Given the description of an element on the screen output the (x, y) to click on. 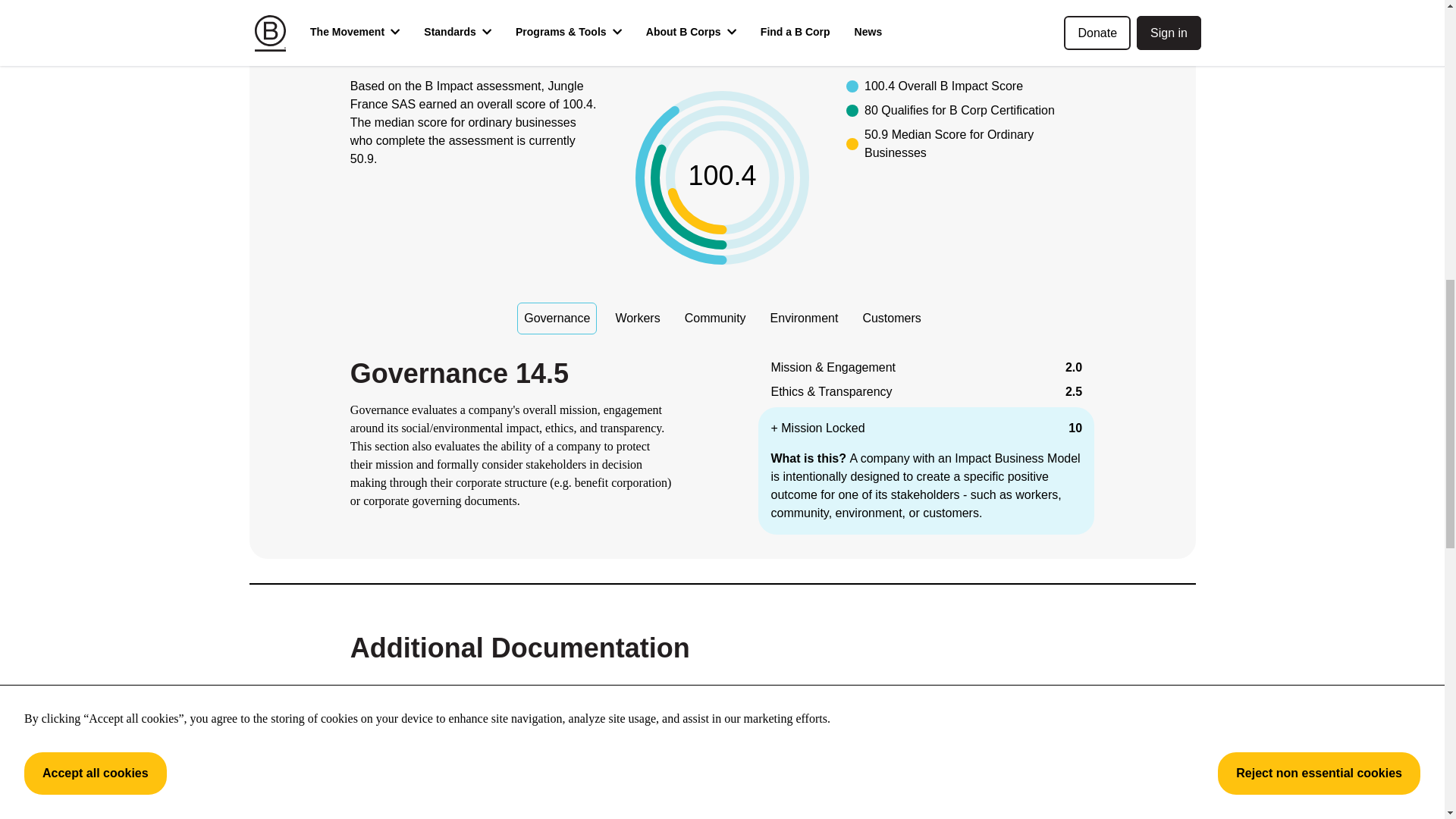
100.4 (721, 177)
